Given the description of an element on the screen output the (x, y) to click on. 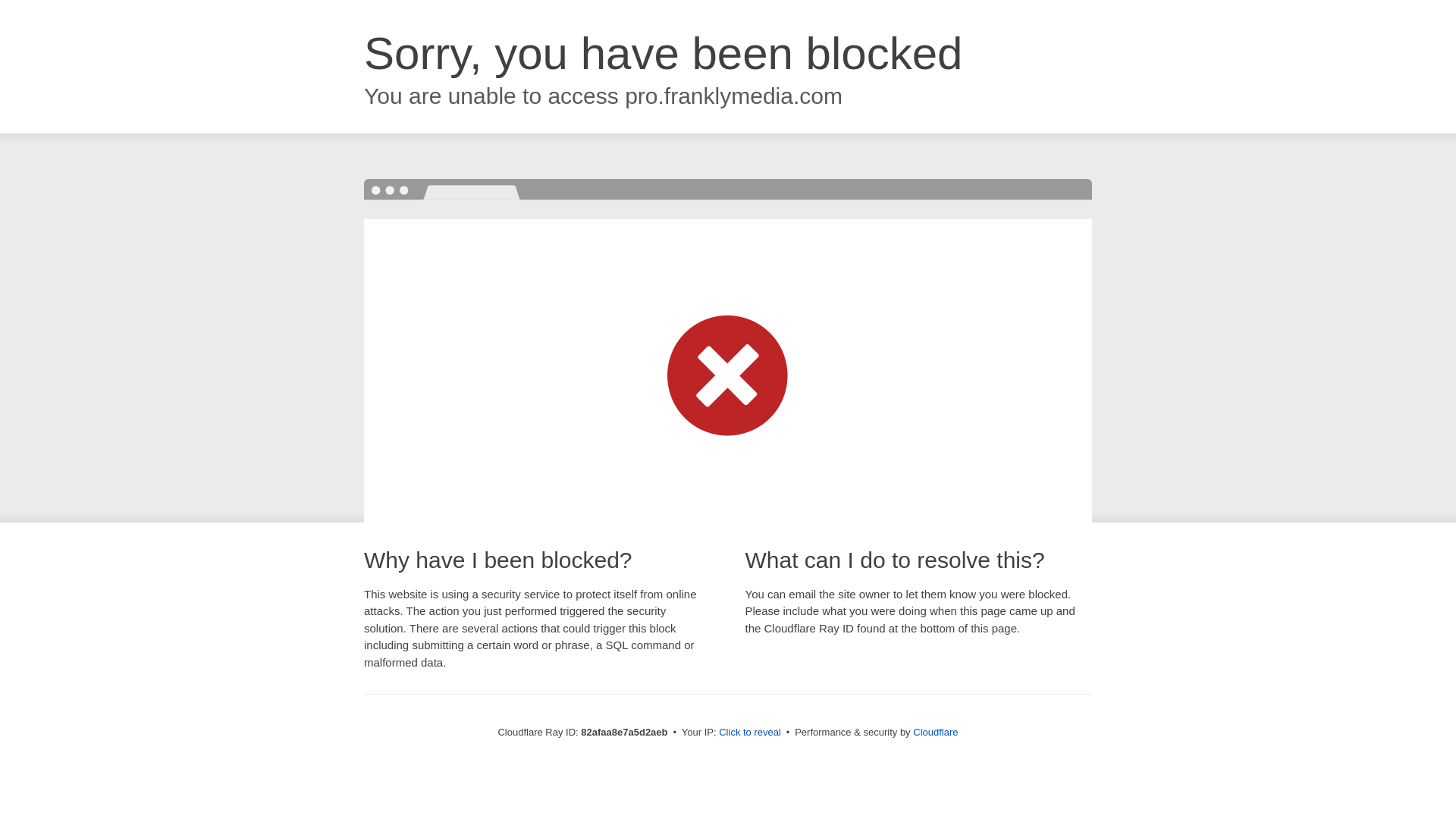
Cloudflare Element type: text (935, 731)
Click to reveal Element type: text (749, 732)
